Given the description of an element on the screen output the (x, y) to click on. 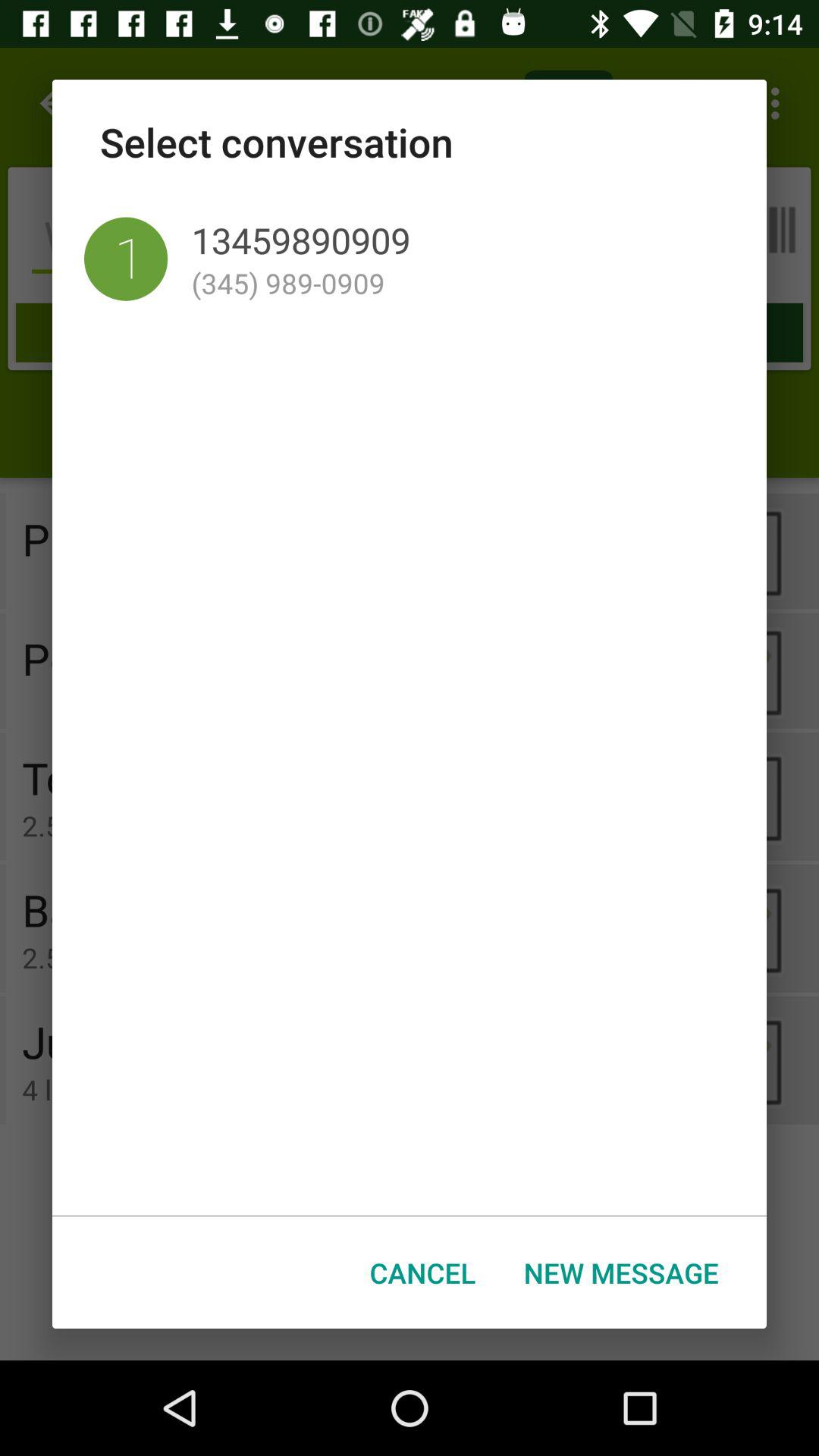
turn off the new message button (620, 1272)
